Given the description of an element on the screen output the (x, y) to click on. 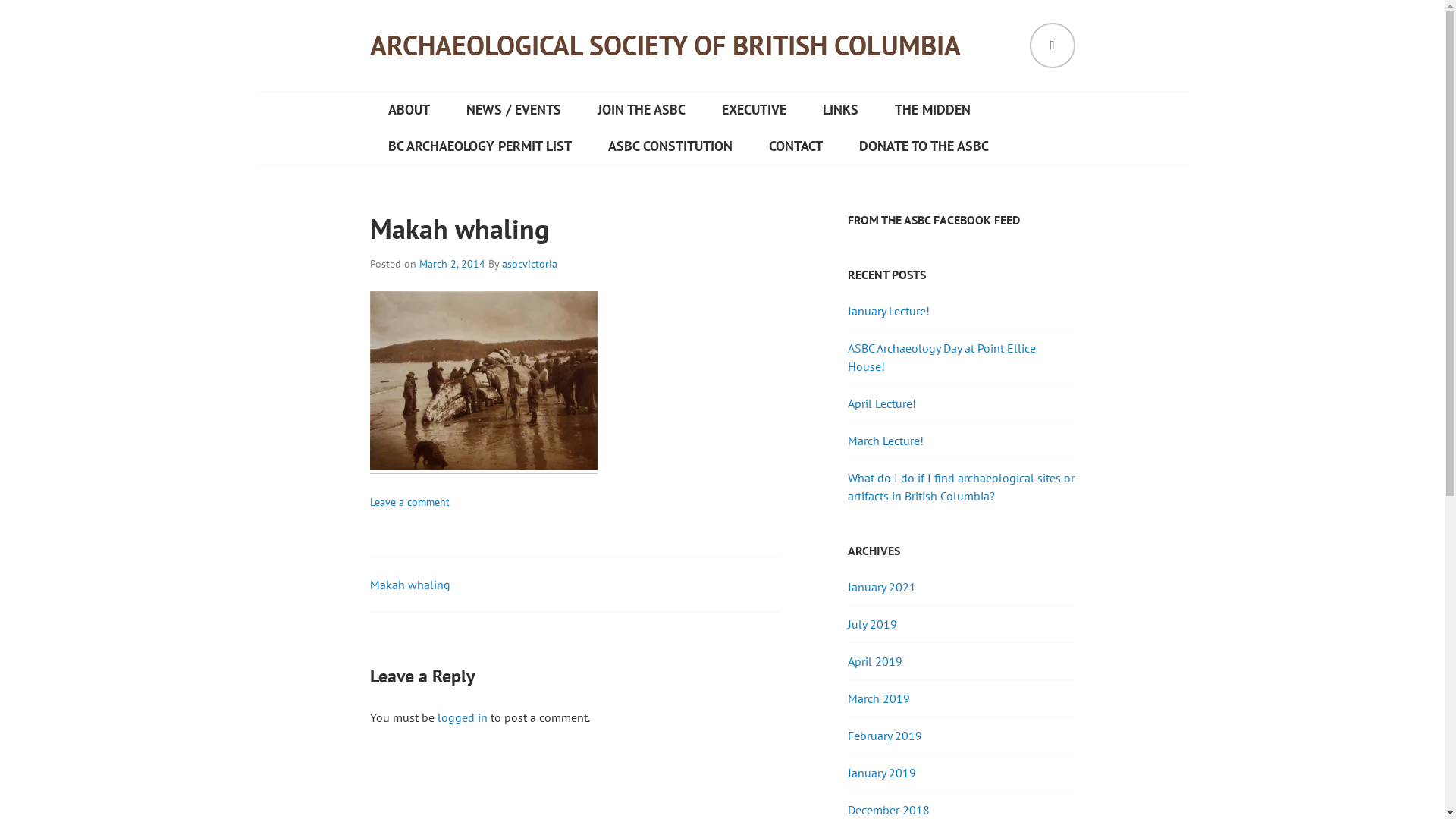
March 2, 2014 Element type: text (451, 263)
ASBC CONSTITUTION Element type: text (669, 146)
December 2018 Element type: text (888, 809)
ARCHAEOLOGICAL SOCIETY OF BRITISH COLUMBIA Element type: text (665, 45)
March Lecture! Element type: text (885, 440)
March 2019 Element type: text (878, 698)
EXECUTIVE Element type: text (753, 109)
CONTACT Element type: text (795, 146)
January 2019 Element type: text (881, 772)
July 2019 Element type: text (872, 623)
Leave a comment Element type: text (409, 501)
April Lecture! Element type: text (881, 403)
April 2019 Element type: text (874, 660)
ASBC Archaeology Day at Point Ellice House! Element type: text (941, 356)
asbcvictoria Element type: text (529, 263)
JOIN THE ASBC Element type: text (641, 109)
LINKS Element type: text (839, 109)
January Lecture! Element type: text (888, 310)
ABOUT Element type: text (409, 109)
BC ARCHAEOLOGY PERMIT LIST Element type: text (479, 146)
Makah whaling Element type: text (410, 584)
January 2021 Element type: text (881, 586)
logged in Element type: text (461, 716)
DONATE TO THE ASBC Element type: text (923, 146)
February 2019 Element type: text (884, 735)
SEARCH Element type: text (1052, 45)
THE MIDDEN Element type: text (932, 109)
NEWS / EVENTS Element type: text (512, 109)
